Given the description of an element on the screen output the (x, y) to click on. 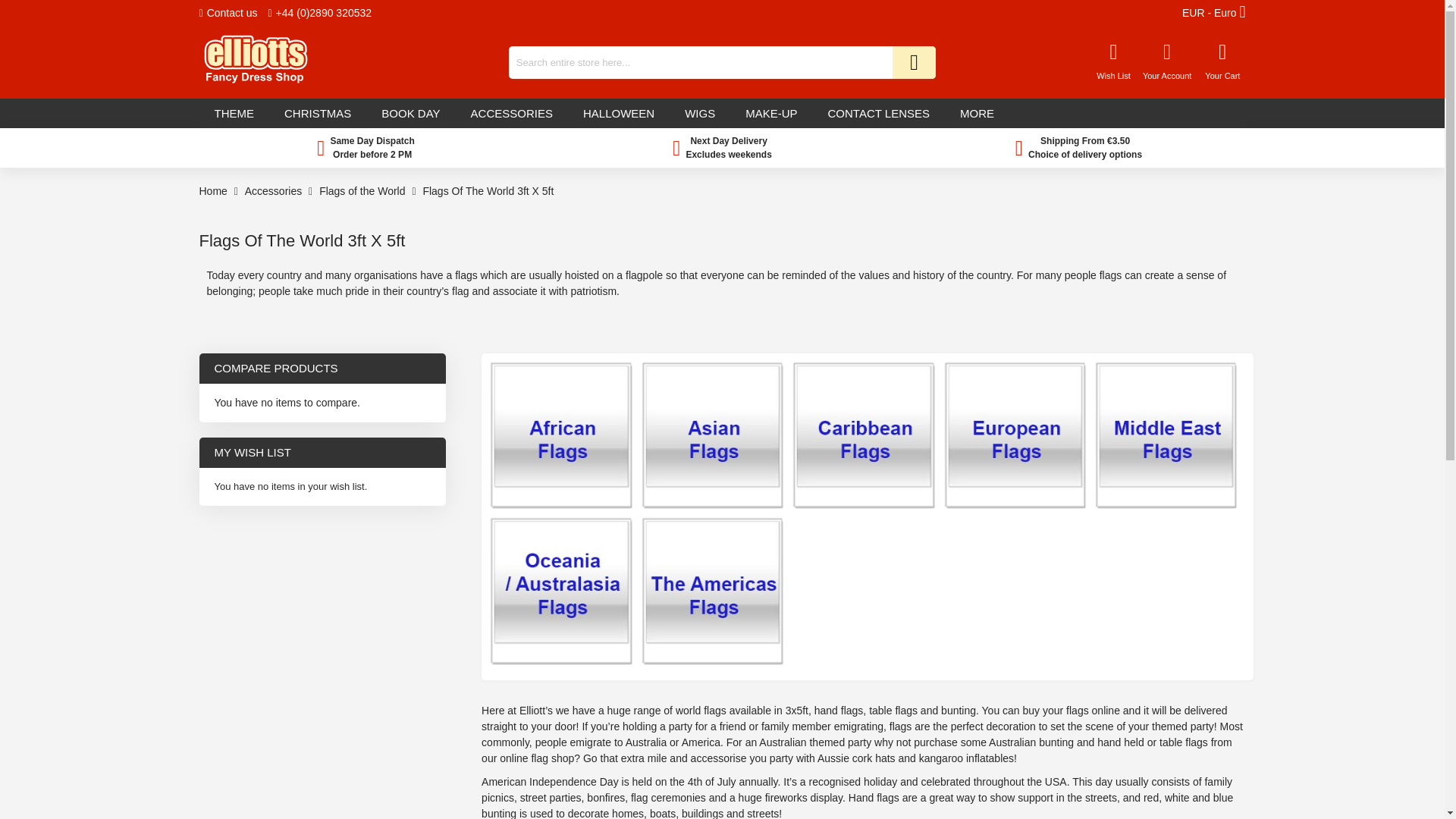
EUR - Euro (1214, 12)
Your Cart (1221, 62)
CHRISTMAS (317, 112)
Wish List (1113, 60)
CONTACT LENSES (878, 112)
Your Account (1166, 65)
Africa (560, 576)
BOOK DAY (410, 112)
Go to Home Page (214, 191)
Middle East (1165, 576)
SEARCH (914, 61)
European (1014, 576)
ACCESSORIES (511, 112)
Caribbean (863, 576)
Search (914, 61)
